Given the description of an element on the screen output the (x, y) to click on. 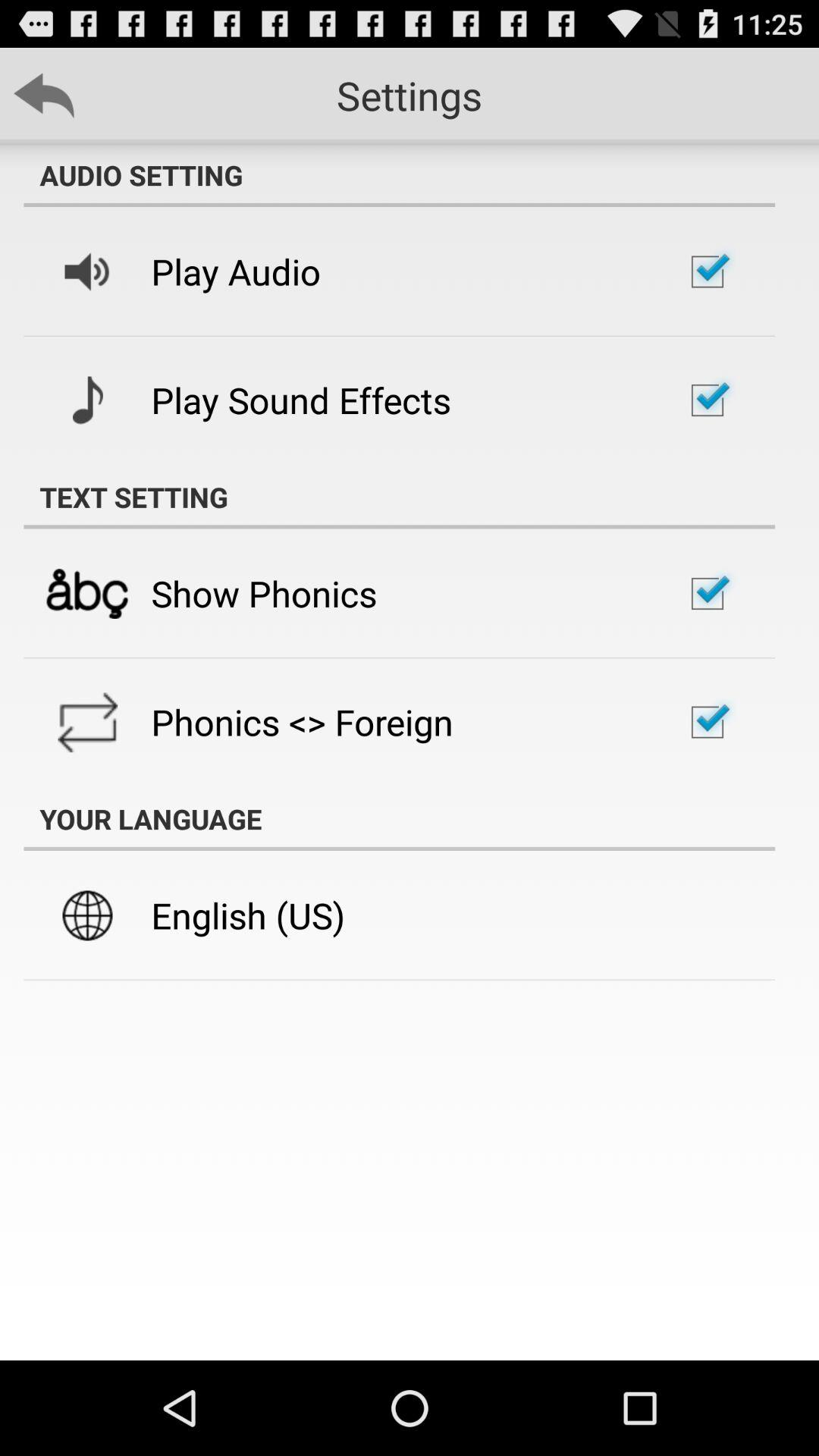
choose app above your language icon (302, 721)
